Given the description of an element on the screen output the (x, y) to click on. 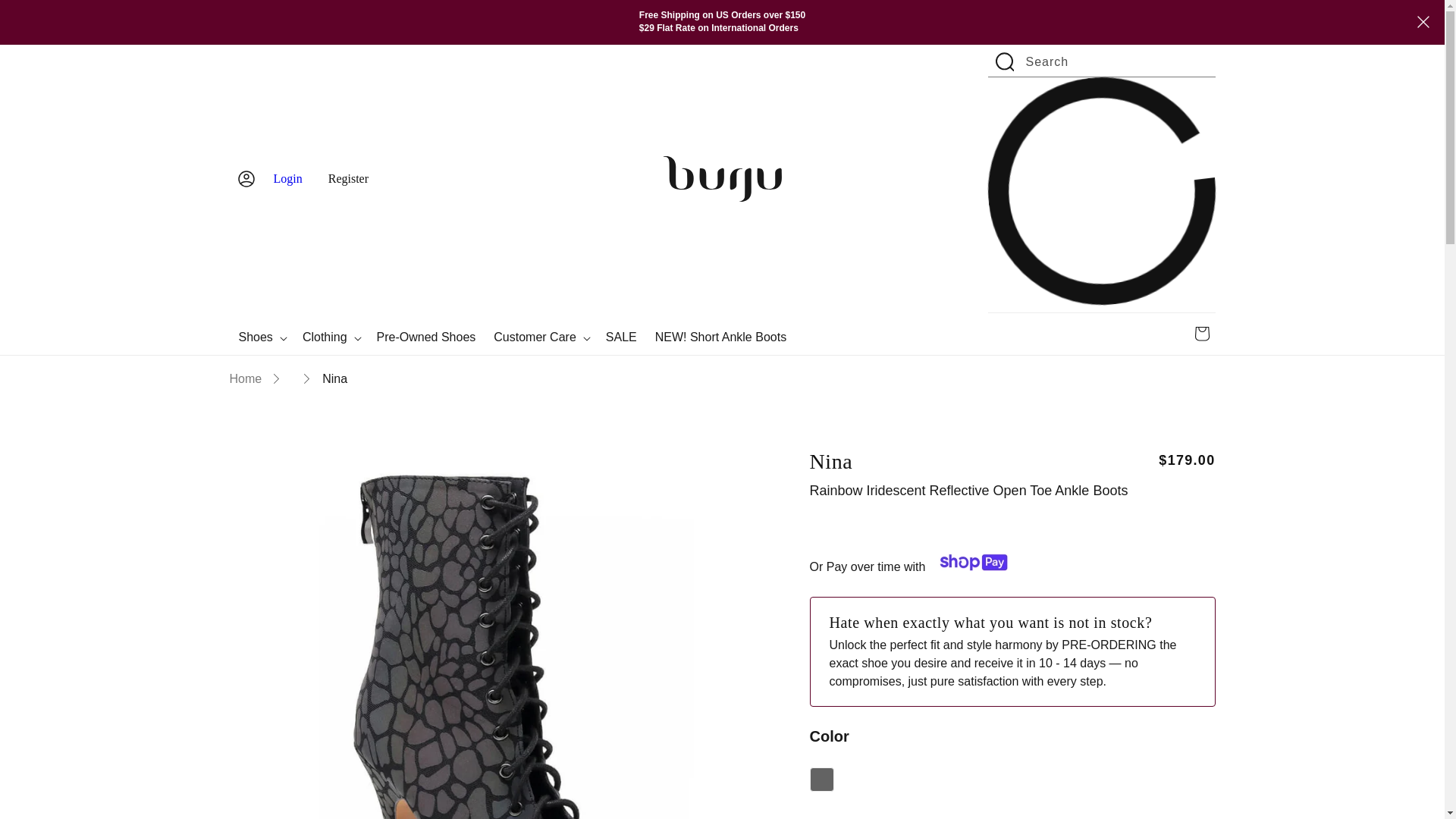
Skip to content (18, 6)
